Given the description of an element on the screen output the (x, y) to click on. 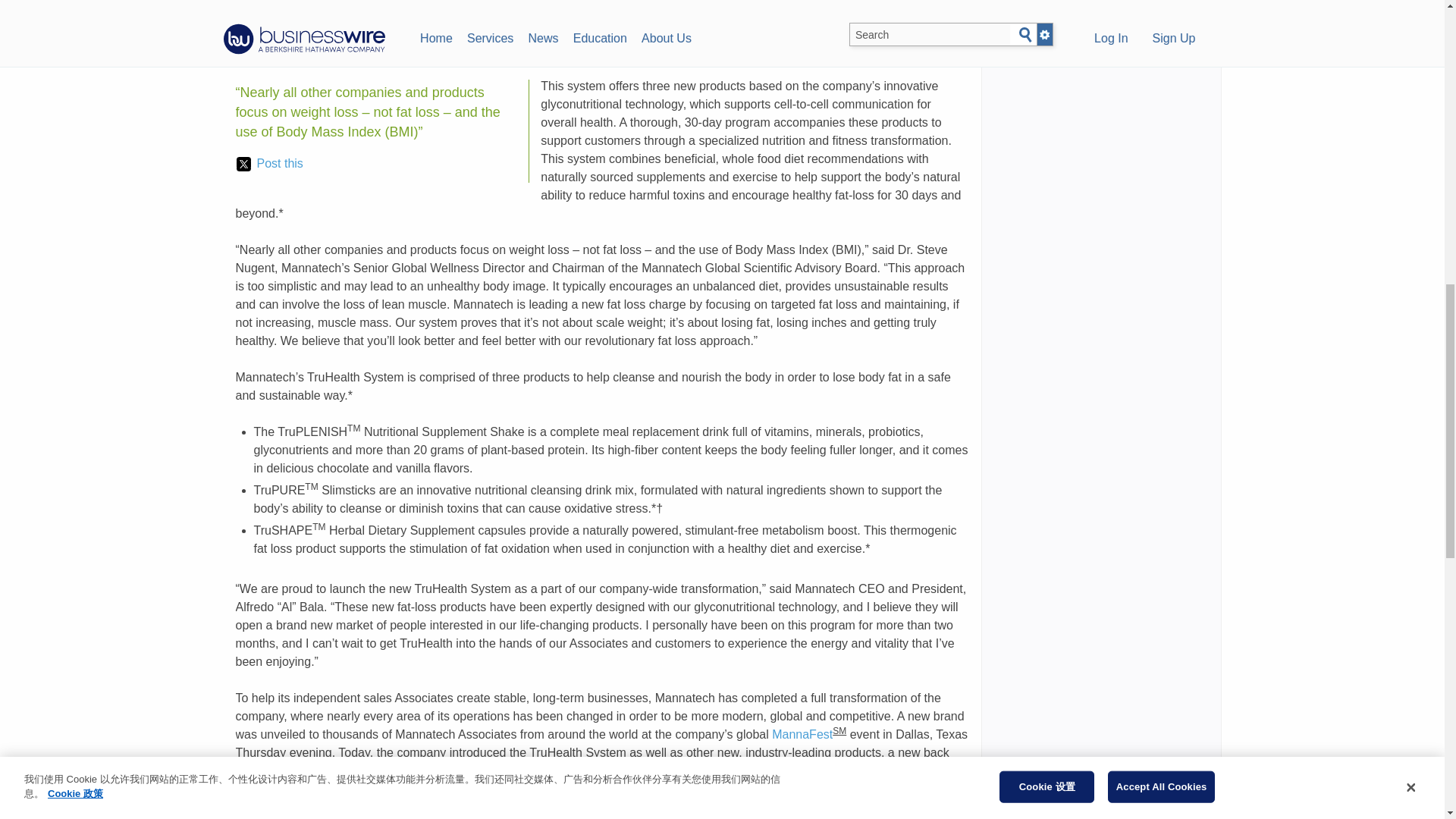
MannaFestSM (271, 49)
BUSINESS WIRE (390, 12)
MannaFest (801, 734)
Post this (269, 163)
